Given the description of an element on the screen output the (x, y) to click on. 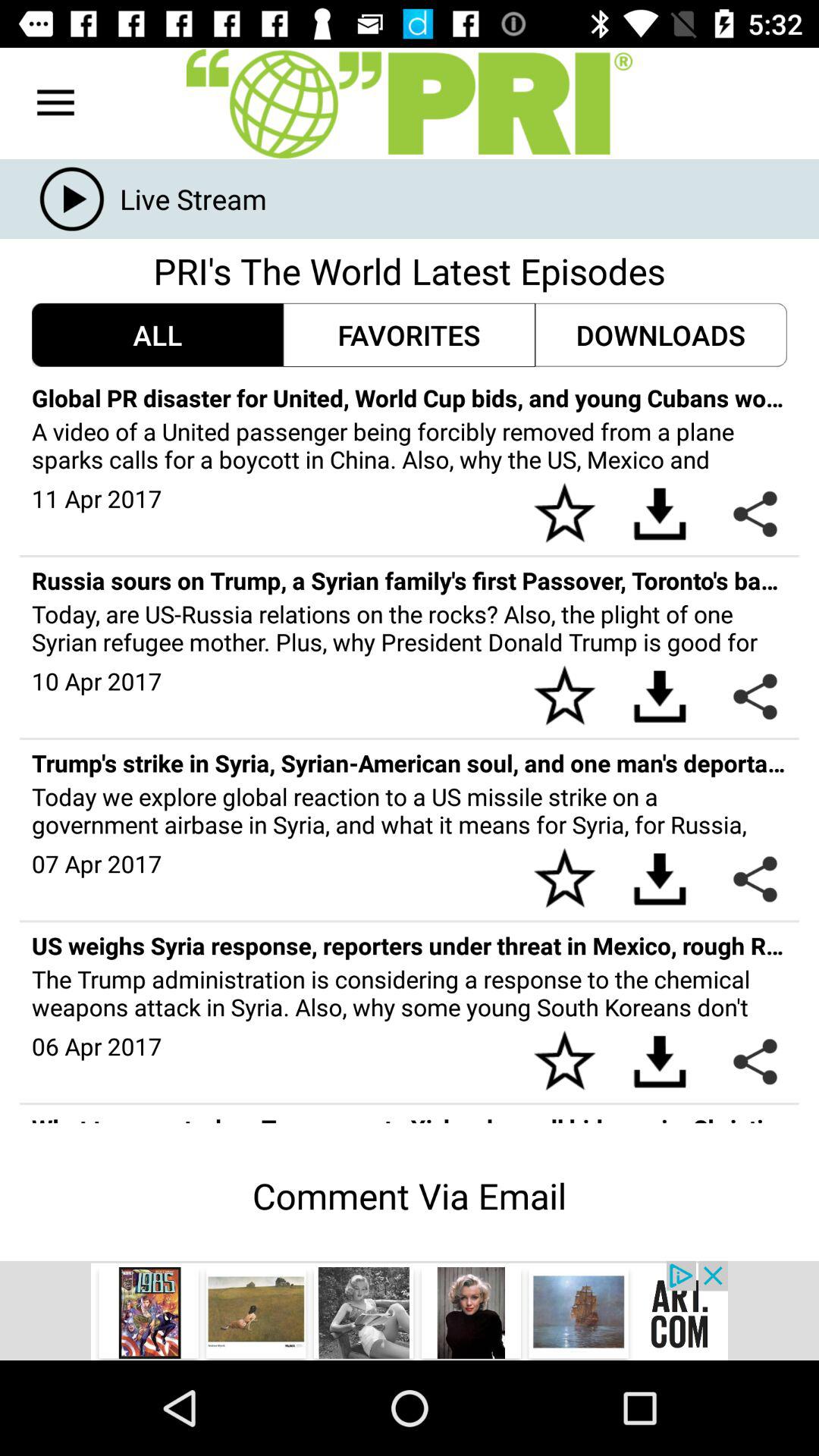
go to text (409, 103)
